Given the description of an element on the screen output the (x, y) to click on. 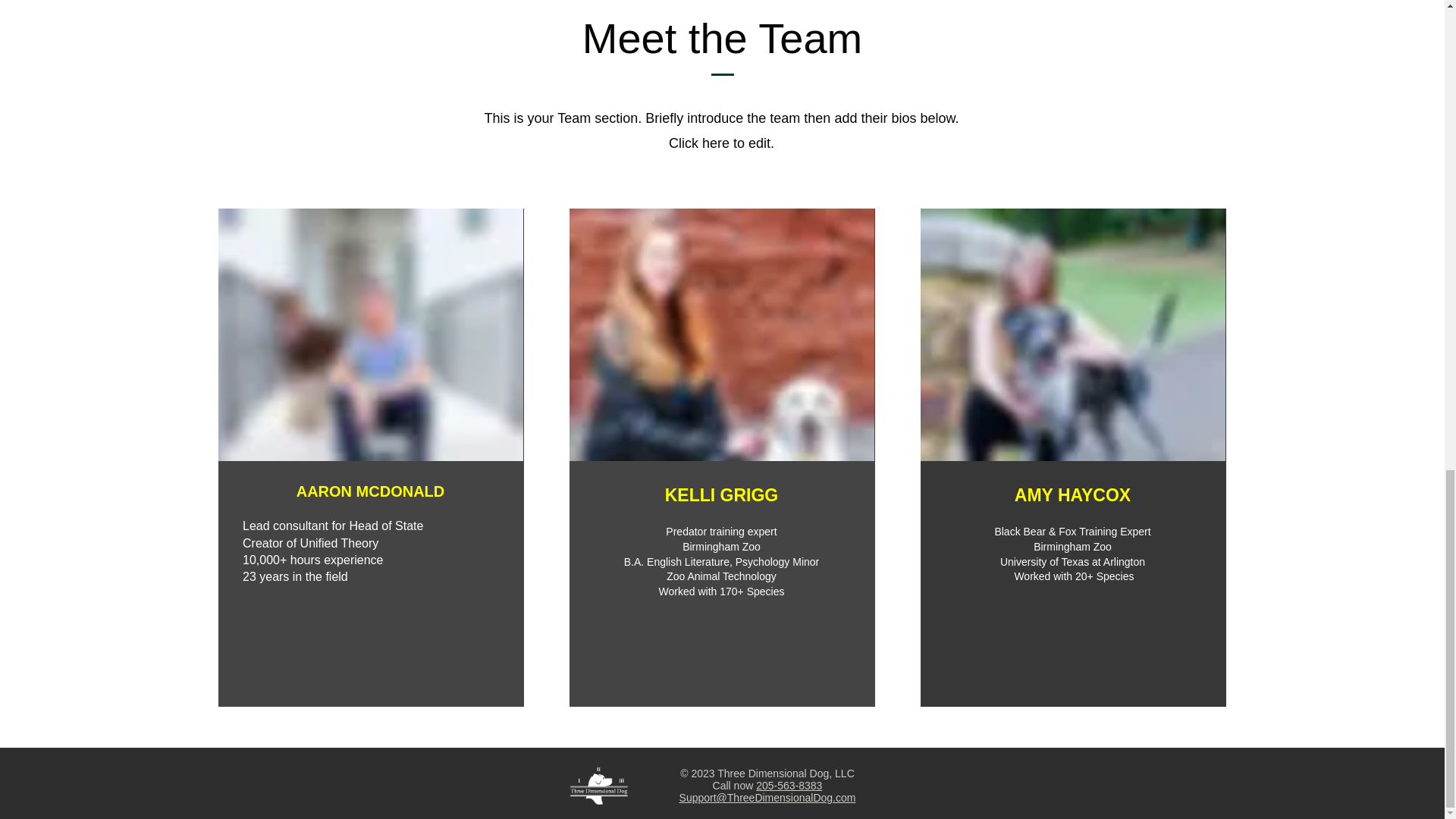
Three Dimensional Dog Home (598, 786)
205-563-8383 (788, 785)
